Given the description of an element on the screen output the (x, y) to click on. 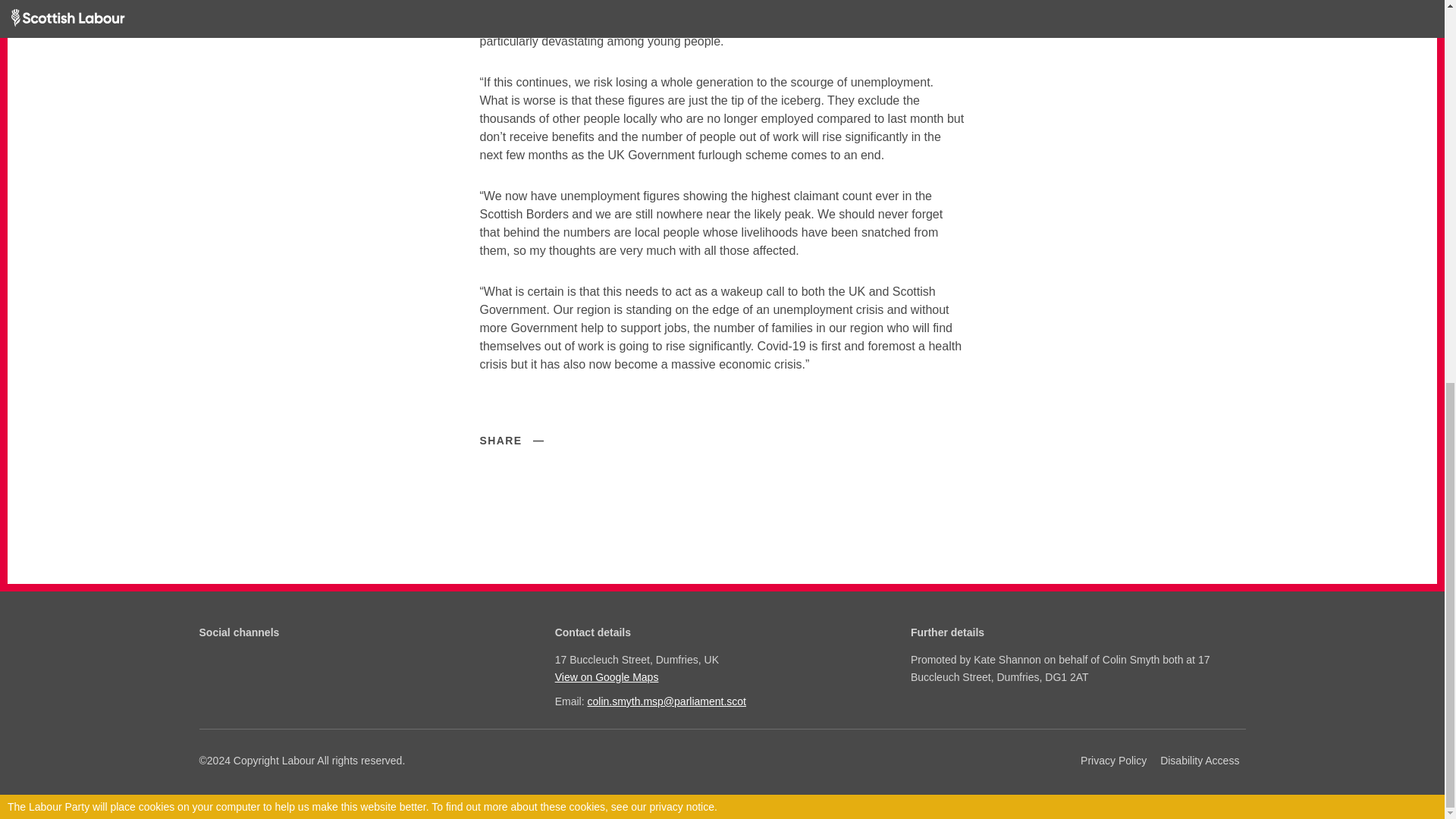
Privacy Policy (1113, 760)
View on Google Maps (719, 677)
Disability Access (1199, 760)
